Given the description of an element on the screen output the (x, y) to click on. 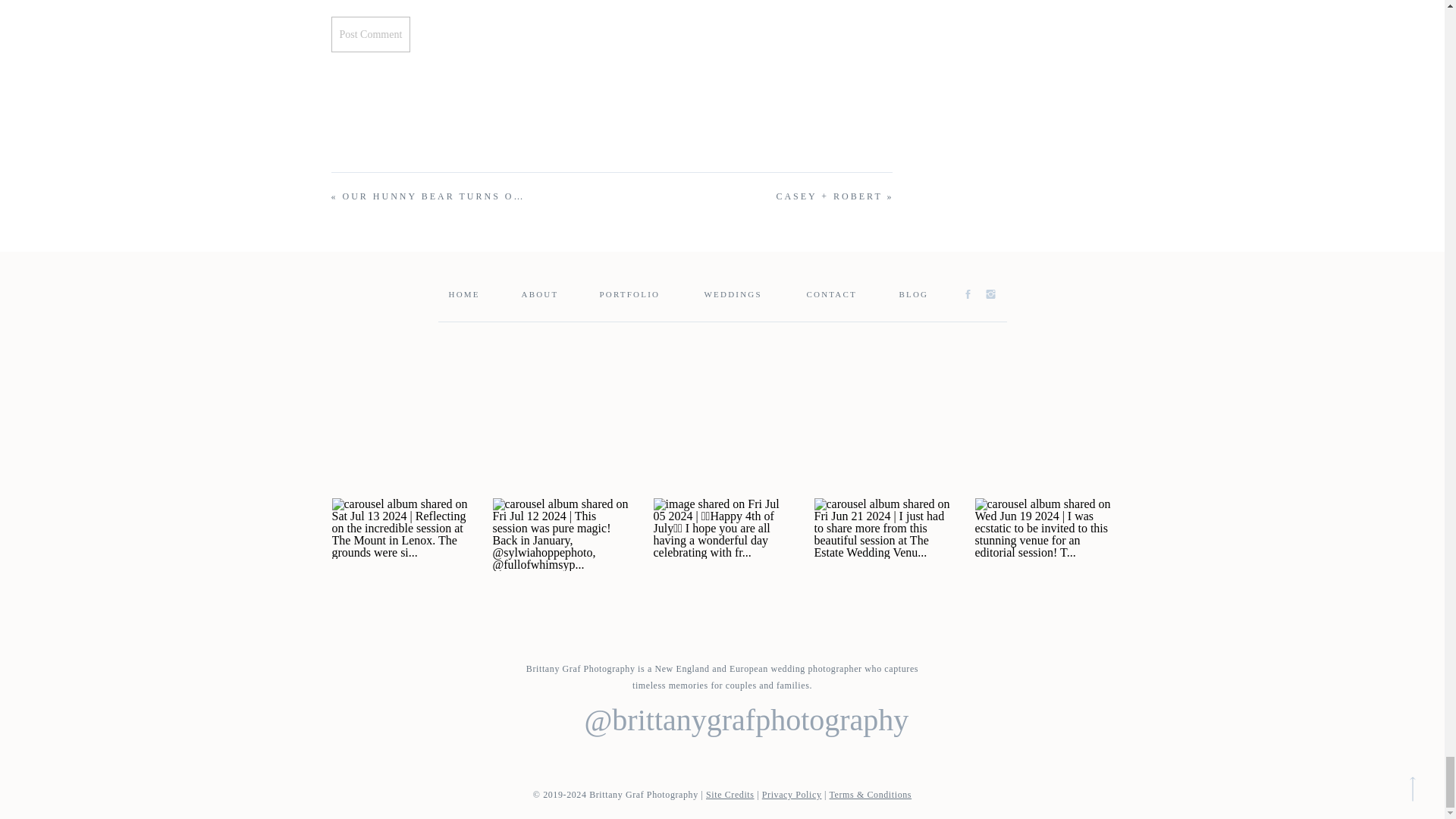
arrow (1412, 788)
Post Comment (370, 34)
